Given the description of an element on the screen output the (x, y) to click on. 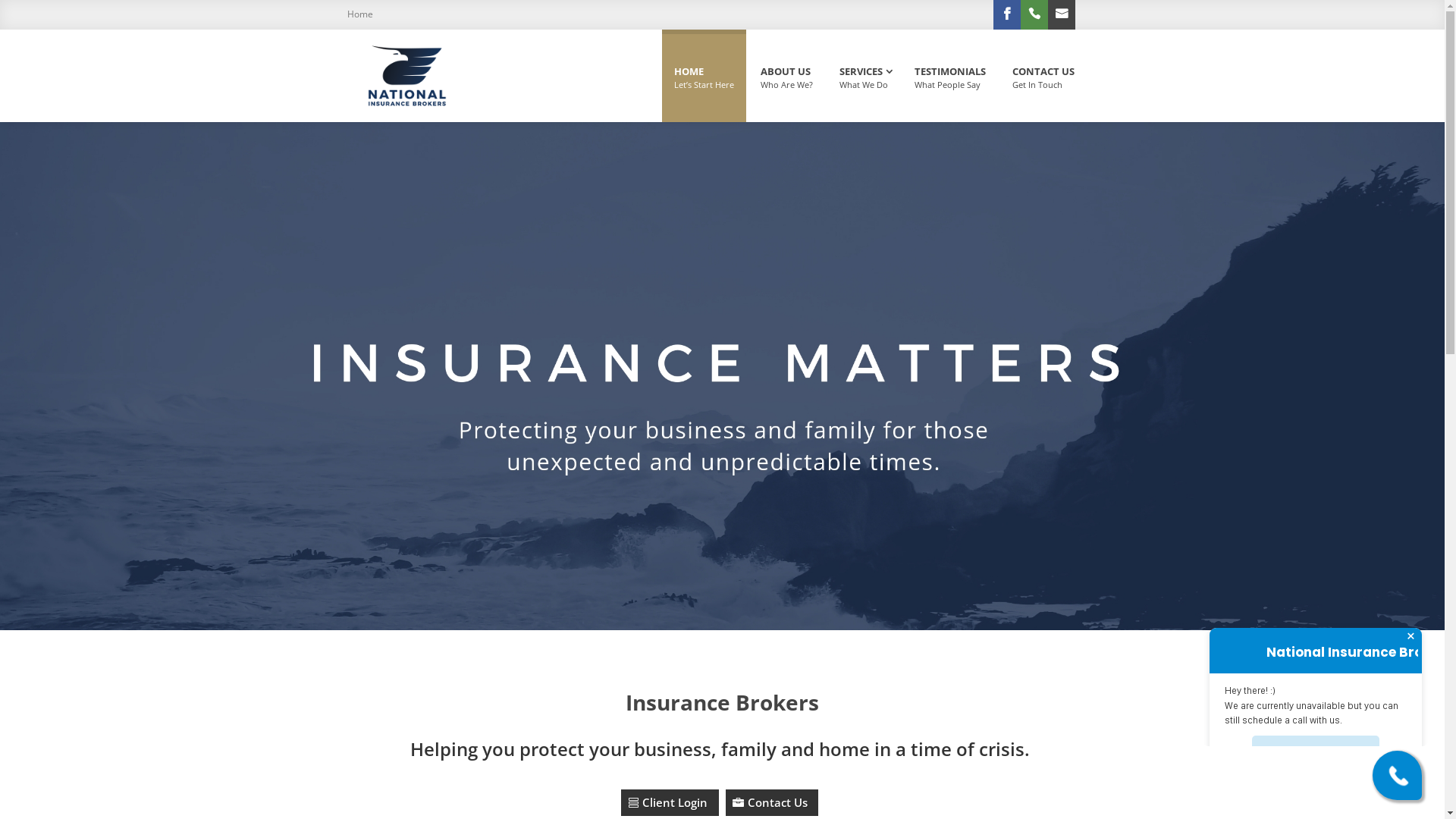
Contact Us Element type: text (771, 802)
CONTACT US
Get In Touch Element type: text (1042, 78)
Client Login Element type: text (669, 802)
Home Element type: text (361, 9)
TESTIMONIALS
What People Say Element type: text (949, 78)
SERVICES
What We Do Element type: text (862, 78)
ABOUT US
Who Are We? Element type: text (785, 78)
